Given the description of an element on the screen output the (x, y) to click on. 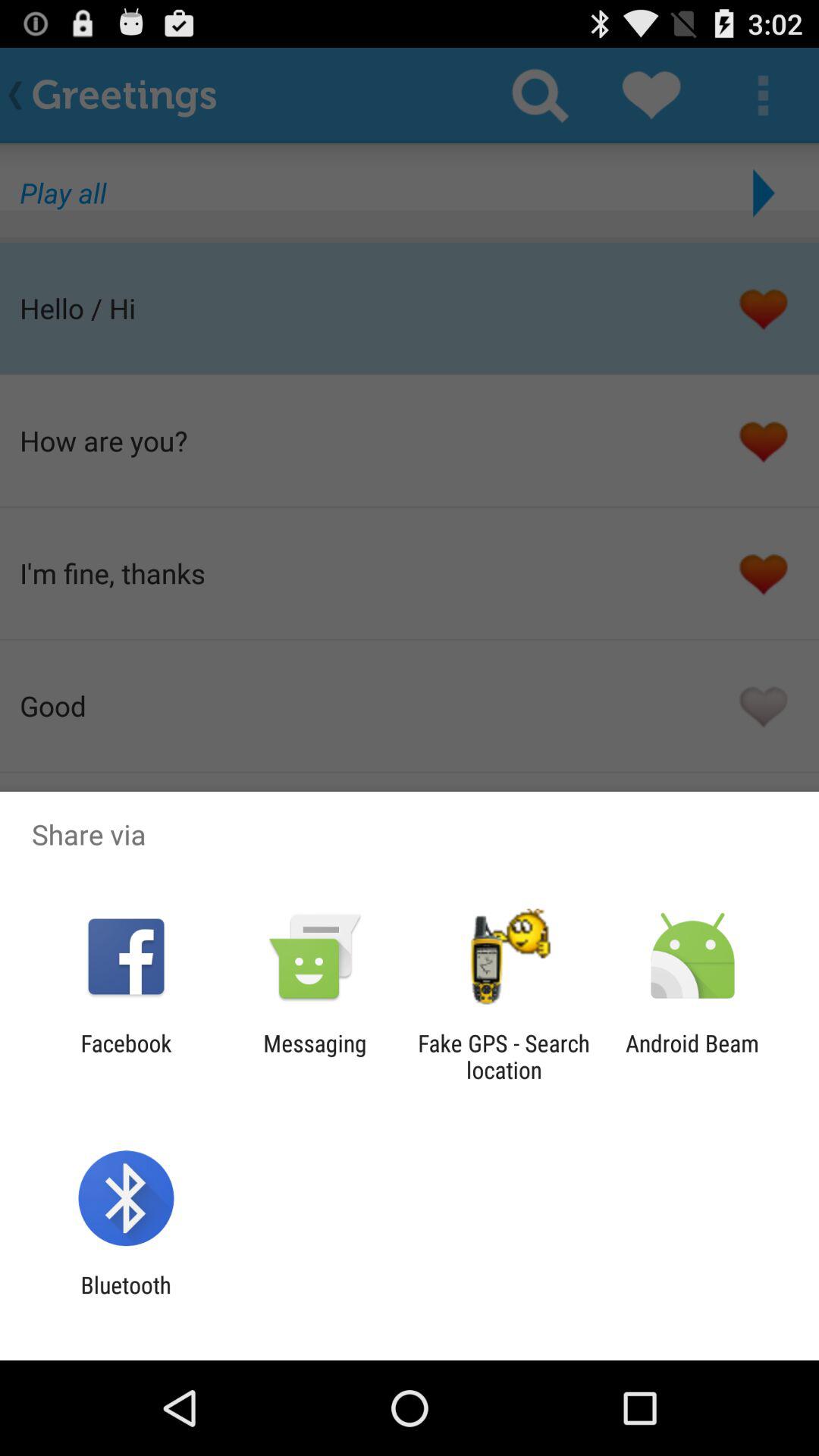
open the item next to the facebook item (314, 1056)
